Given the description of an element on the screen output the (x, y) to click on. 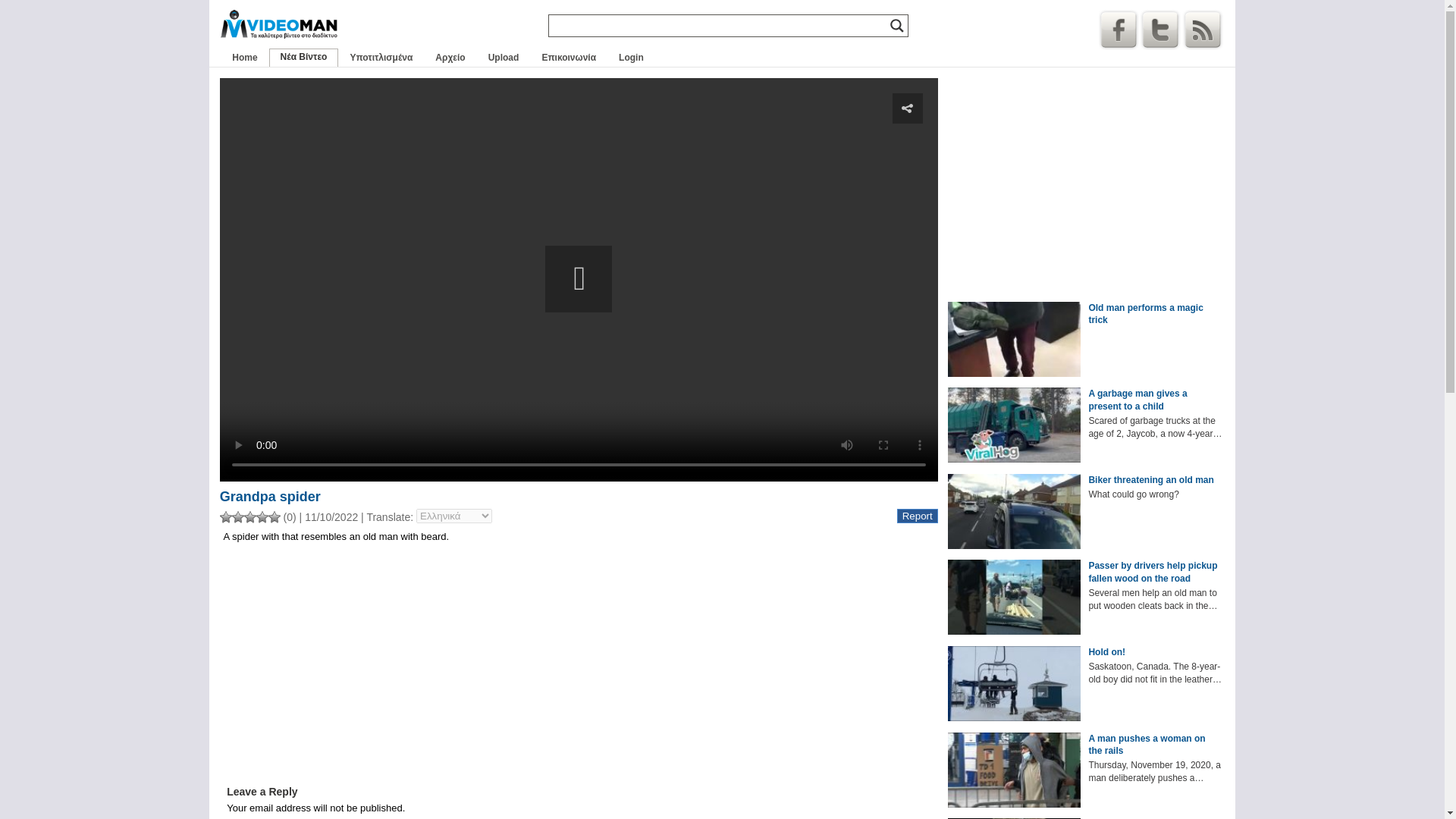
RSS Feed (1202, 29)
Advertisement (1085, 183)
A garbage man gives a present to a child (1154, 400)
Upload (504, 57)
Login (631, 57)
Facebook (1118, 29)
Old man performs a magic trick (1154, 314)
Twitter (1159, 29)
Home (244, 57)
